Given the description of an element on the screen output the (x, y) to click on. 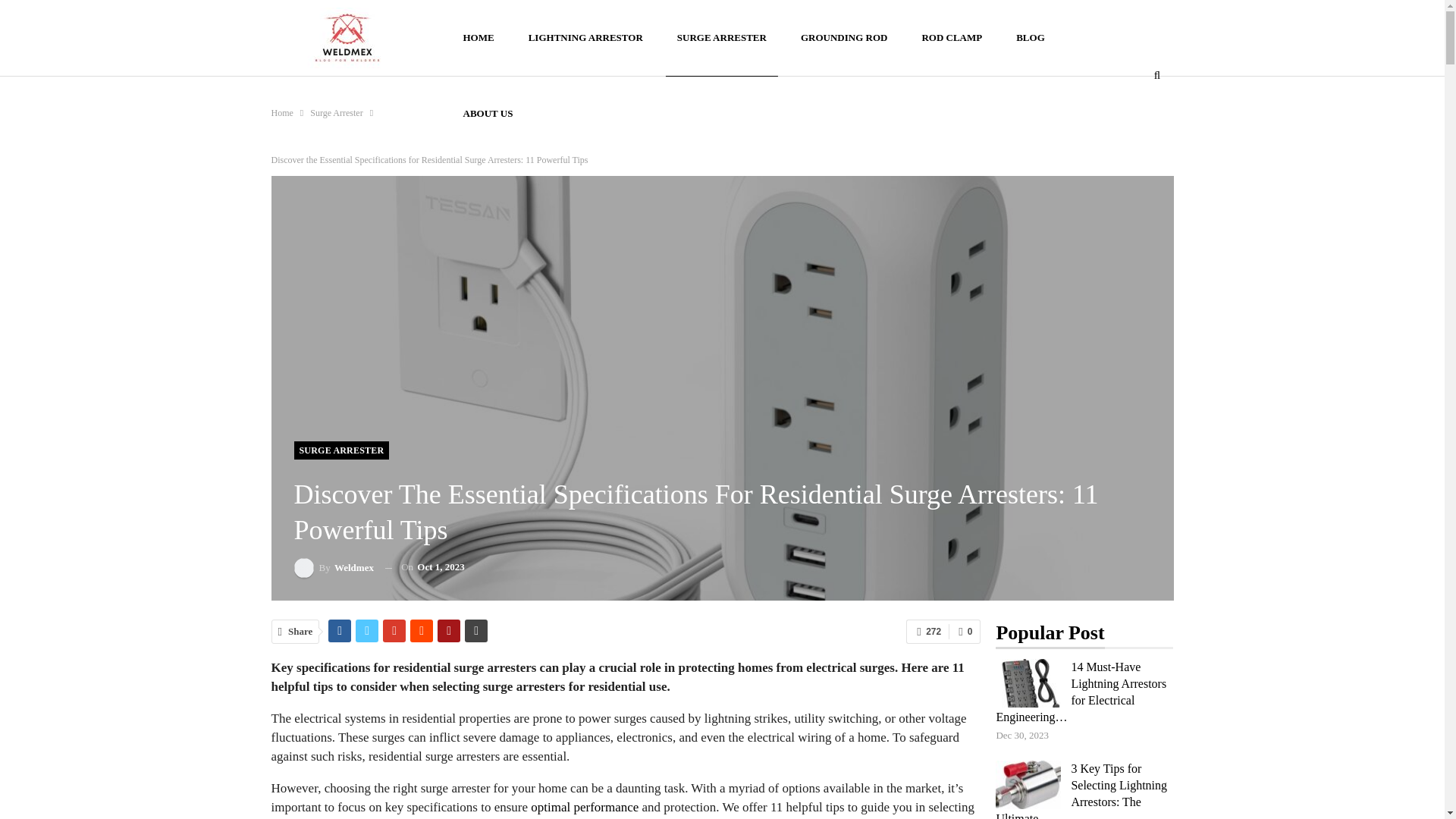
optimal performance (585, 807)
GROUNDING ROD (843, 38)
LIGHTNING ARRESTOR (584, 38)
ROD CLAMP (951, 38)
Browse Author Articles (334, 567)
SURGE ARRESTER (721, 38)
Surge Arrester (336, 112)
0 (964, 631)
Home (282, 112)
optimal performance (585, 807)
By Weldmex (334, 567)
ABOUT US (487, 113)
SURGE ARRESTER (342, 450)
